Given the description of an element on the screen output the (x, y) to click on. 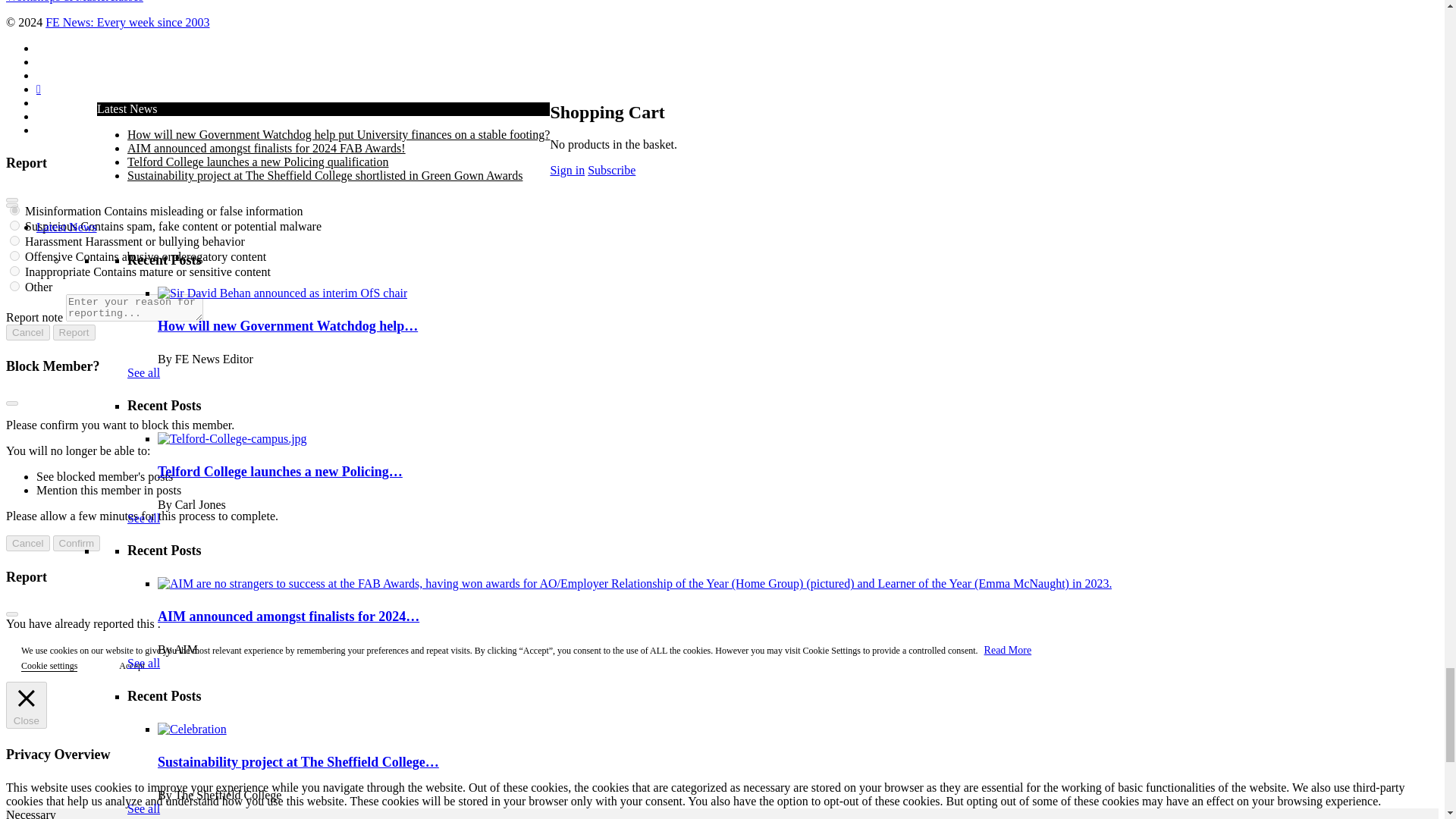
41898 (15, 240)
41894 (15, 255)
Cancel (27, 332)
41895 (15, 271)
41897 (15, 225)
41896 (15, 210)
Cancel (27, 543)
other (15, 286)
